Given the description of an element on the screen output the (x, y) to click on. 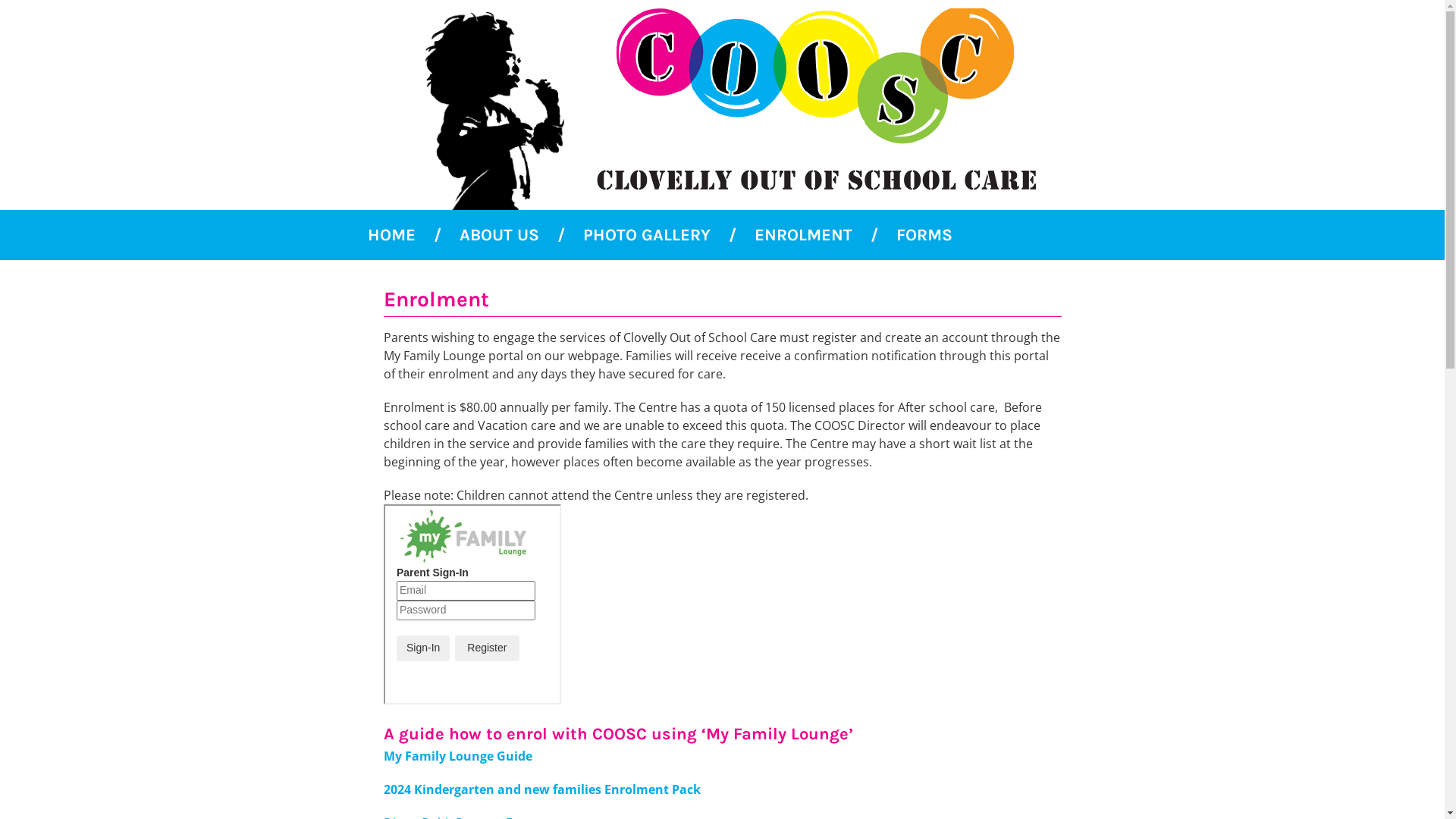
HOME Element type: text (390, 235)
ABOUT US Element type: text (486, 235)
POLICIES AND PROCEDURES Element type: text (489, 285)
FORMS Element type: text (911, 235)
PHOTO GALLERY Element type: text (632, 235)
Clovelly Out of School Care Element type: text (729, 105)
ENROLMENT Element type: text (789, 235)
2024 Kindergarten and new families Enrolment Pack Element type: text (541, 789)
My Family Lounge Guide Element type: text (457, 755)
